Given the description of an element on the screen output the (x, y) to click on. 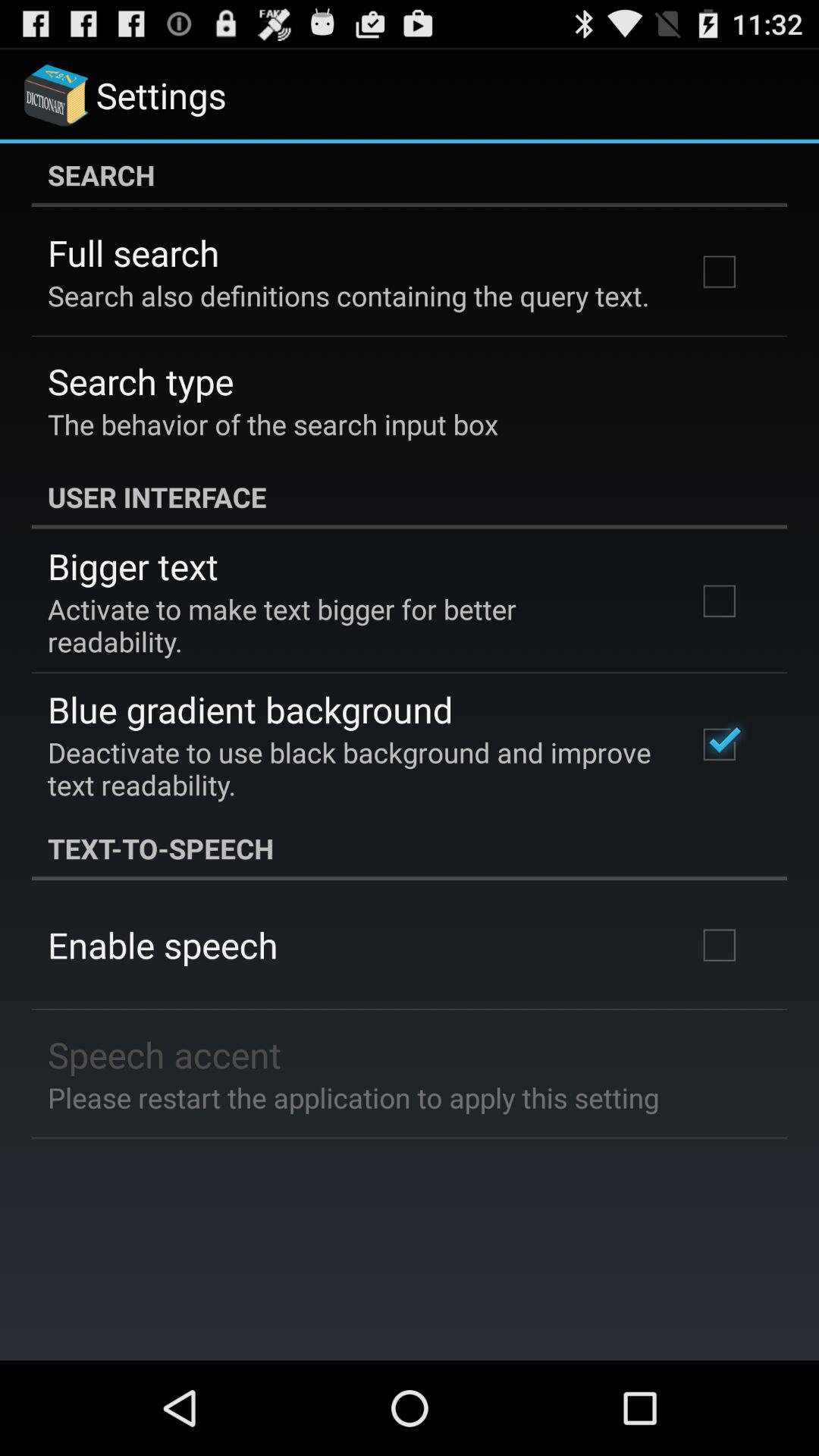
turn on item below search also definitions icon (140, 381)
